Given the description of an element on the screen output the (x, y) to click on. 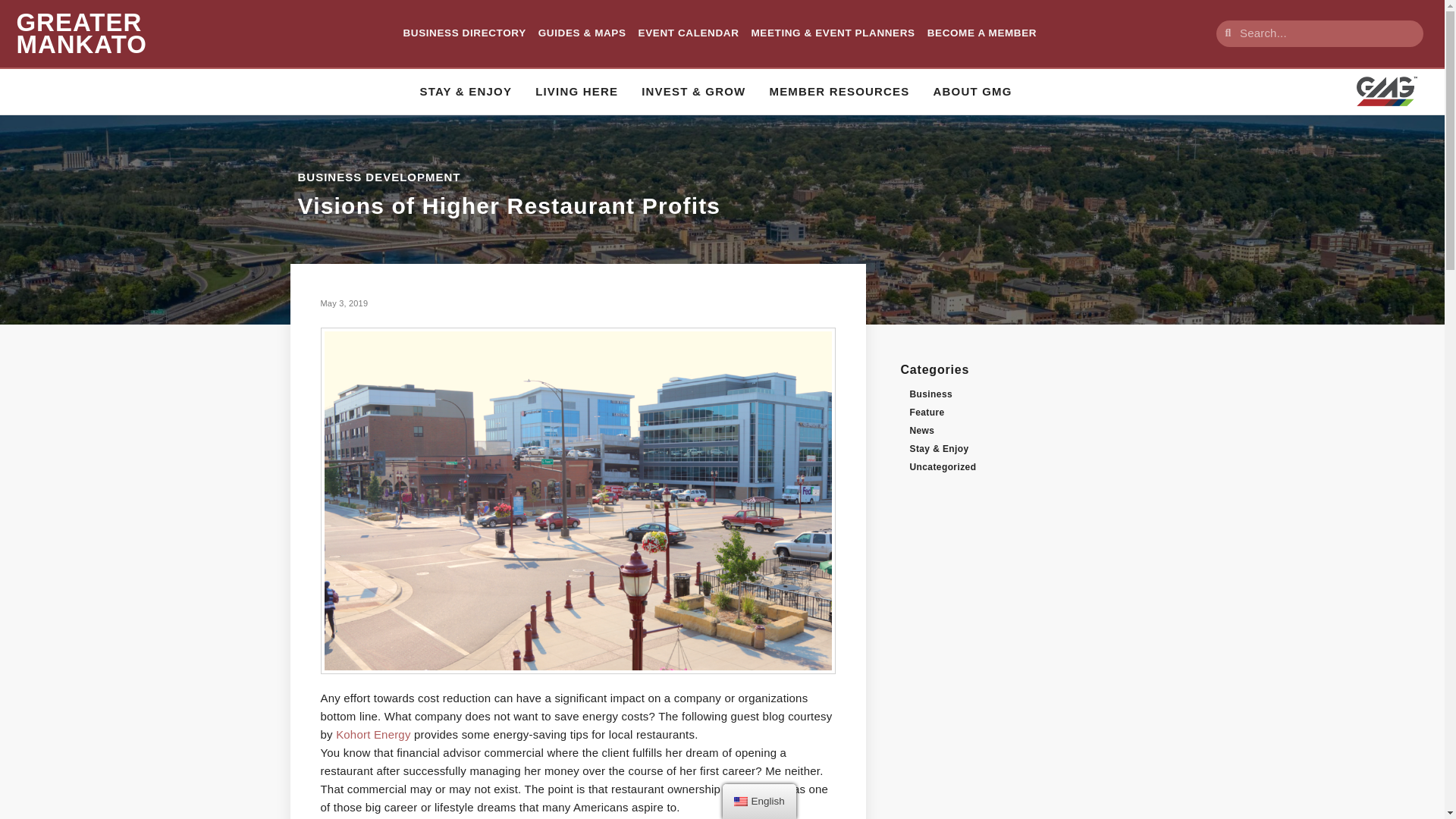
BECOME A MEMBER (981, 33)
EVENT CALENDAR (689, 33)
English (740, 800)
GREATER MANKATO (81, 33)
BUSINESS DIRECTORY (464, 33)
